Given the description of an element on the screen output the (x, y) to click on. 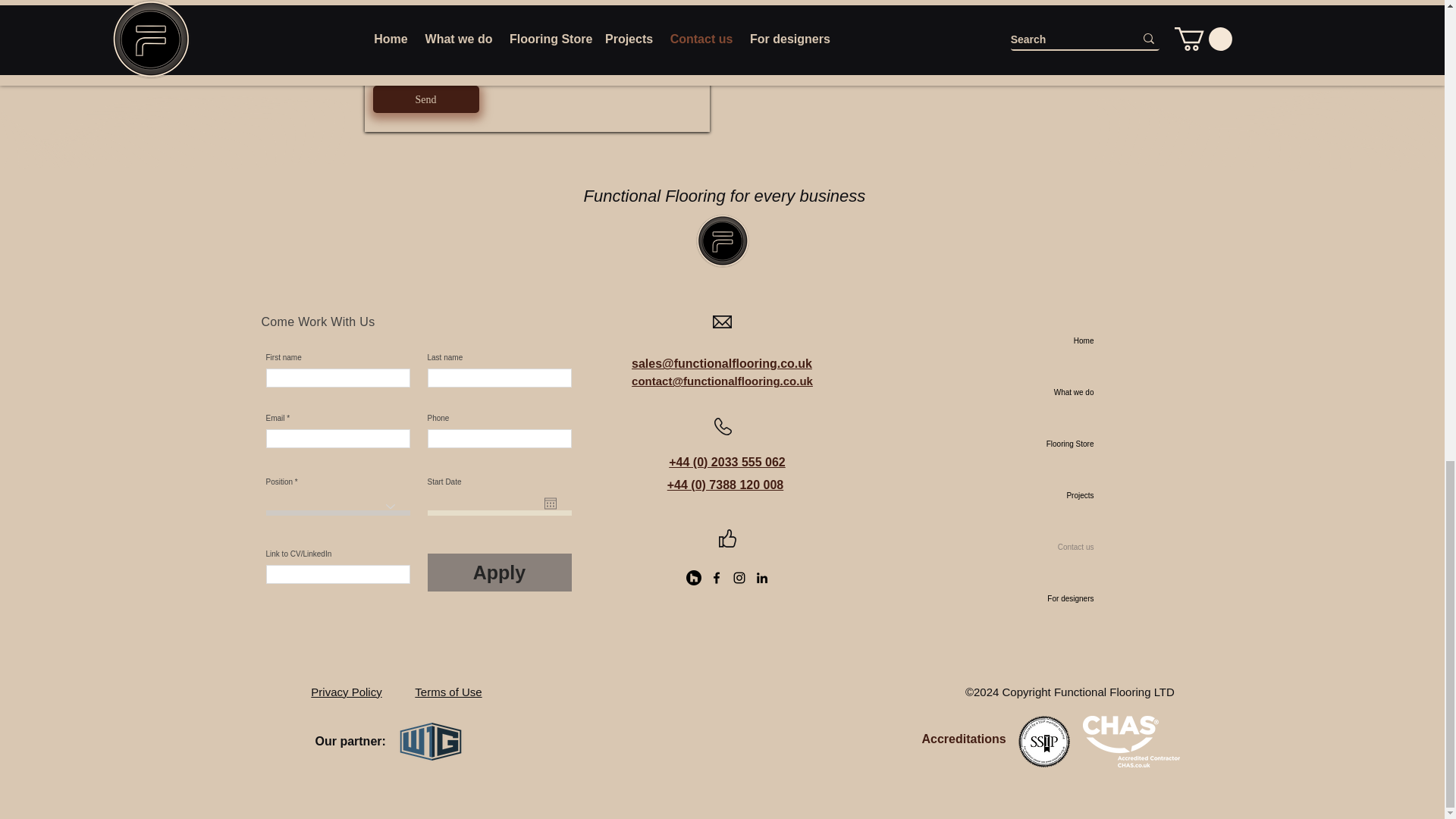
Fuctional Flooring for every business (722, 240)
Flooring Store (1042, 444)
Home (1042, 340)
What we do (1042, 392)
Send (425, 99)
Apply (500, 572)
